Given the description of an element on the screen output the (x, y) to click on. 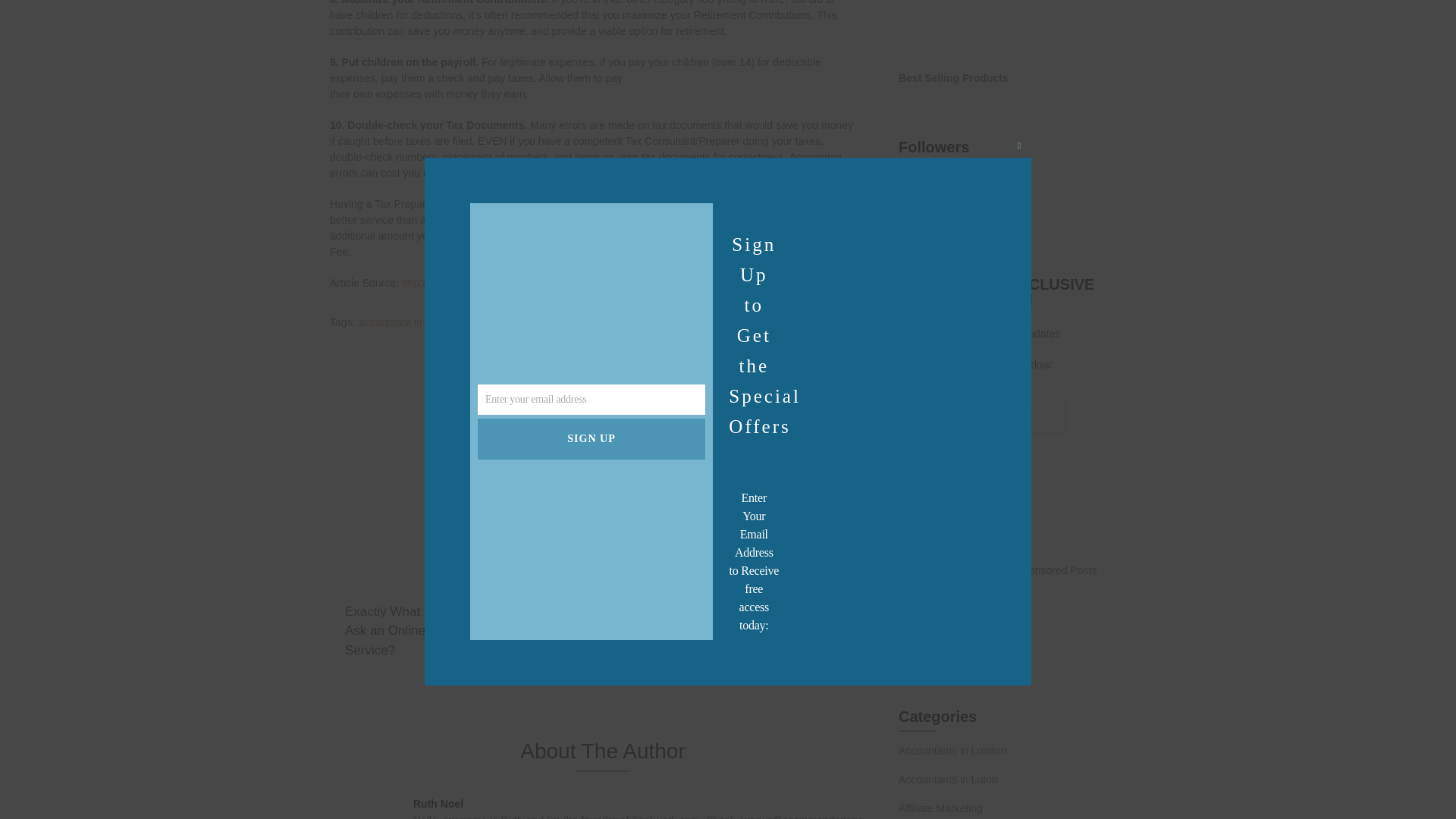
Submit (922, 462)
